Given the description of an element on the screen output the (x, y) to click on. 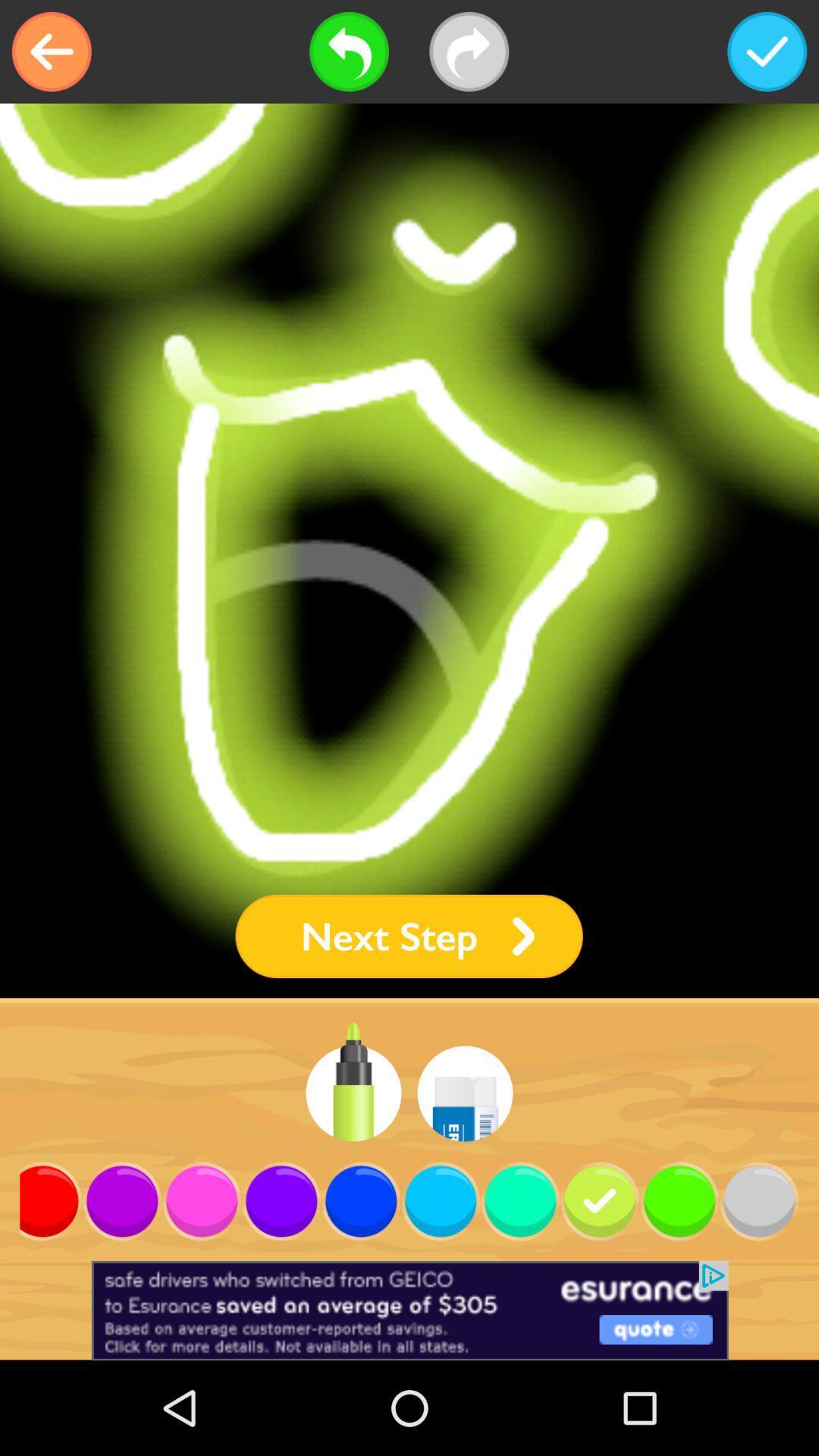
submit (767, 51)
